Given the description of an element on the screen output the (x, y) to click on. 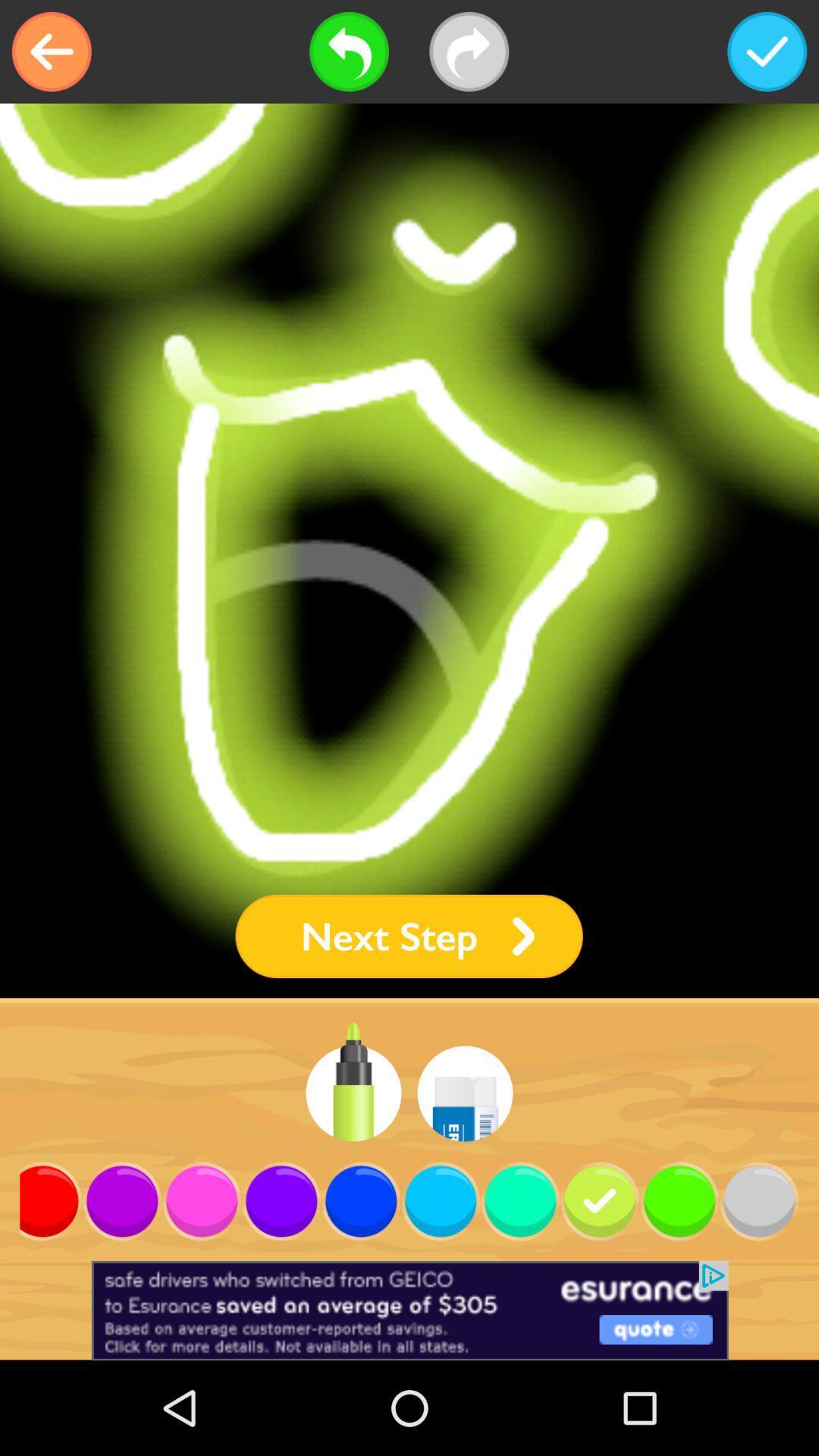
submit (767, 51)
